Given the description of an element on the screen output the (x, y) to click on. 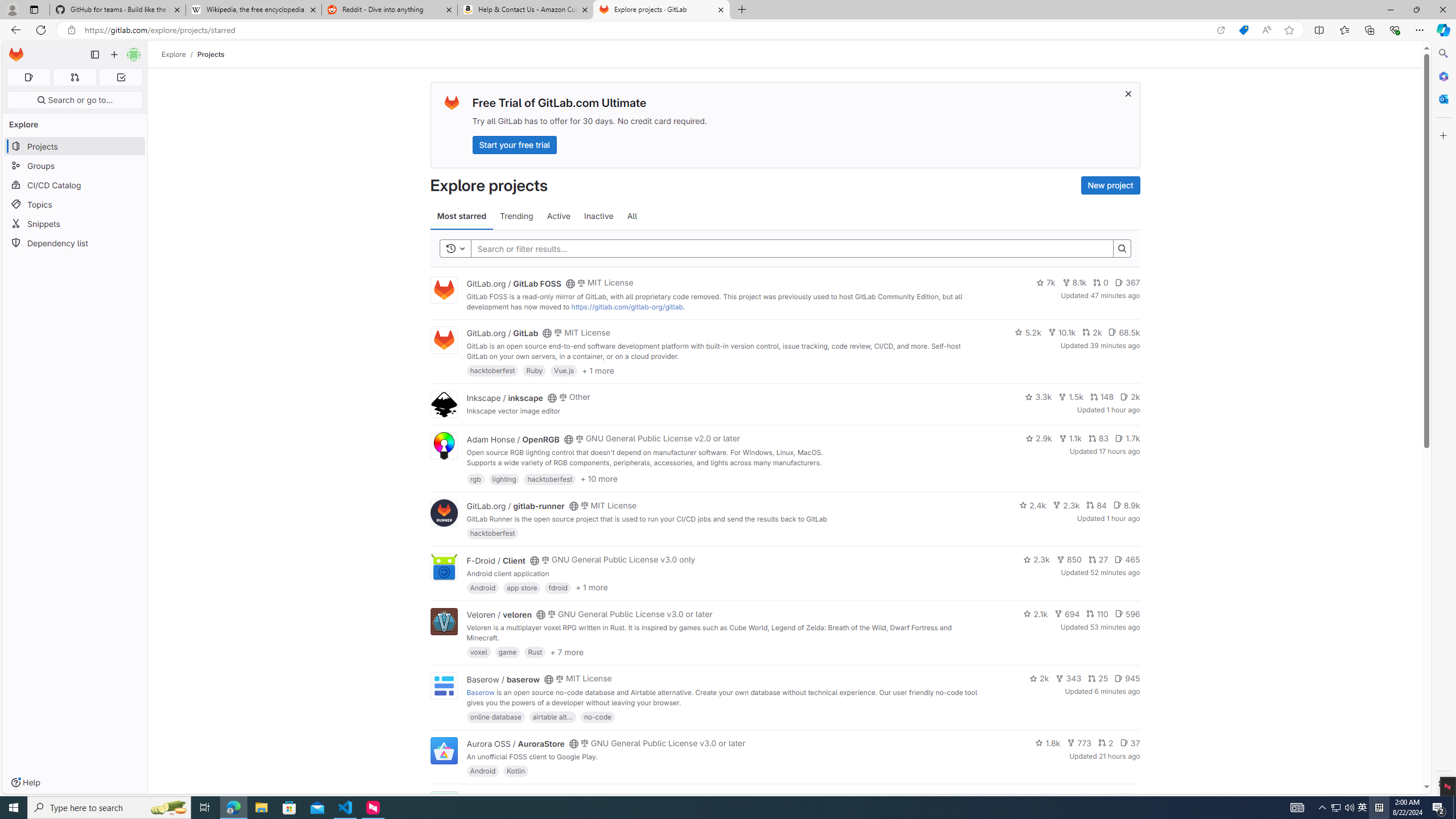
Snippets (74, 223)
1.7k (1127, 438)
fdroid (558, 587)
Active (559, 216)
Adam Honse / OpenRGB (512, 438)
Baserow (480, 691)
465 (1127, 559)
no-code (597, 715)
0 (1100, 282)
7k (1045, 282)
Dismiss trial promotion (1128, 93)
